Given the description of an element on the screen output the (x, y) to click on. 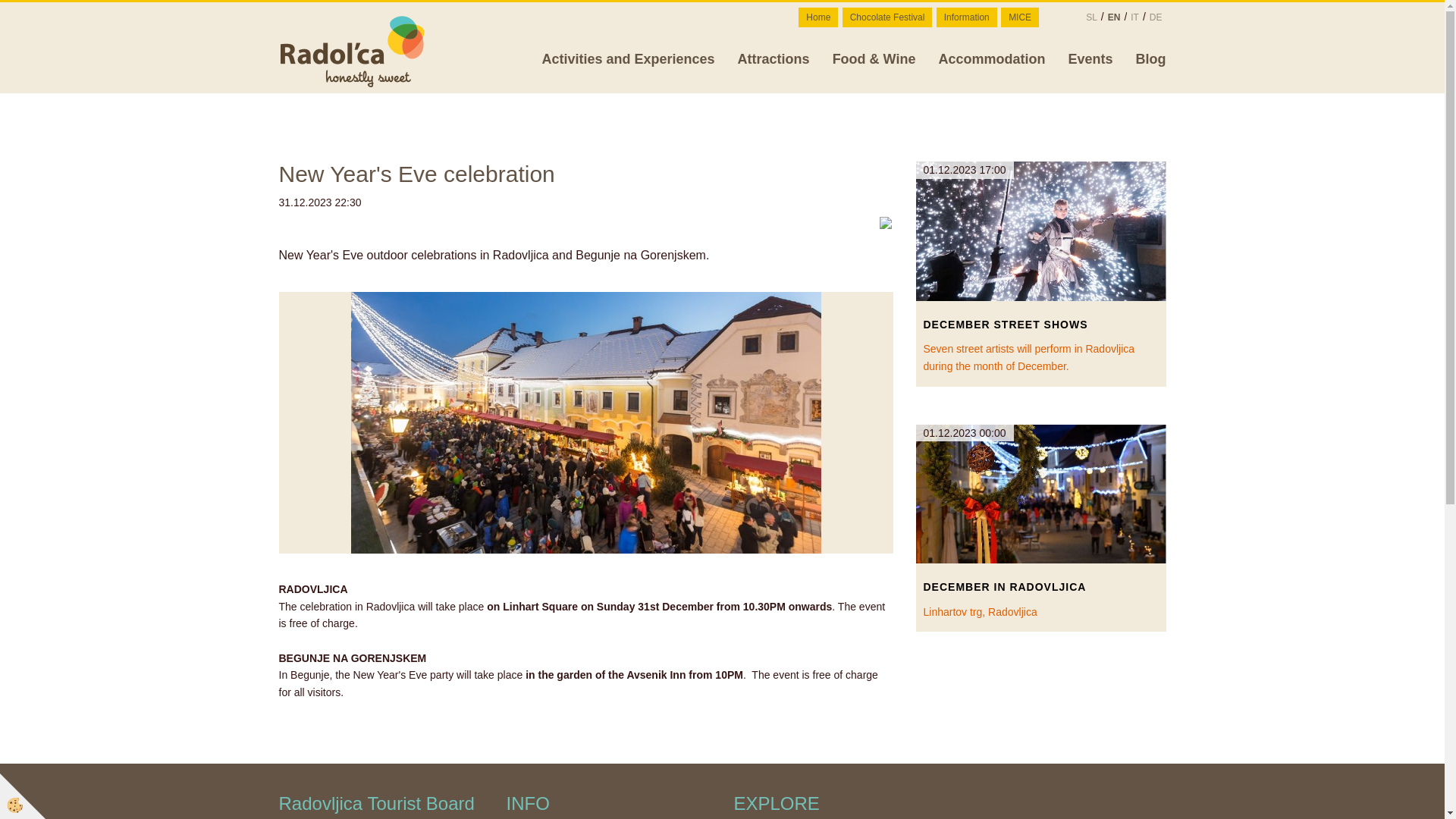
December Street Shows (1040, 324)
radolca.si (354, 49)
Information (966, 17)
MICE (1020, 17)
December in Radovljica (1040, 586)
Chocolate Festival (888, 17)
Activities and Experiences (628, 58)
Home (817, 17)
